Given the description of an element on the screen output the (x, y) to click on. 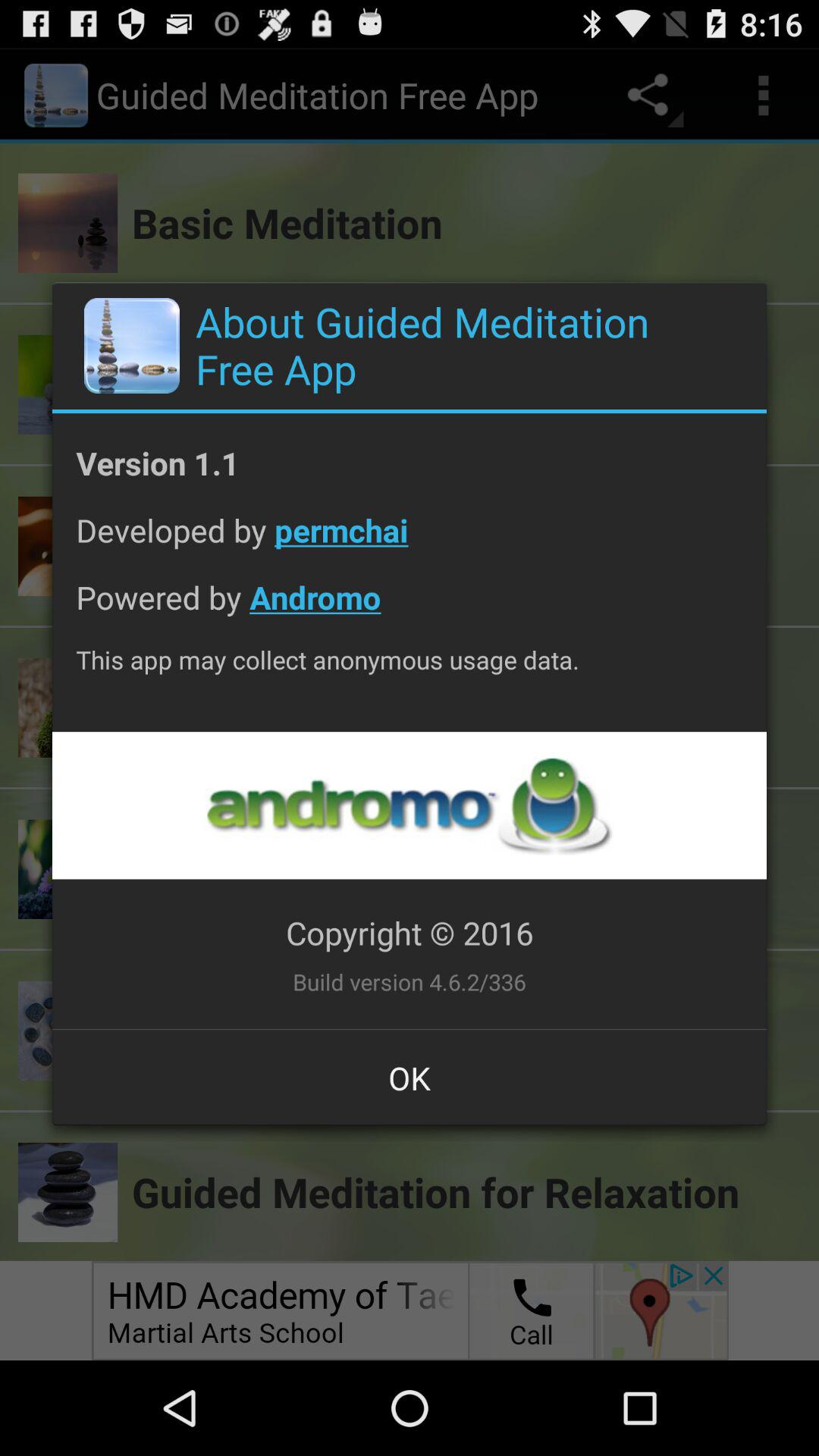
scroll until ok button (409, 1077)
